Given the description of an element on the screen output the (x, y) to click on. 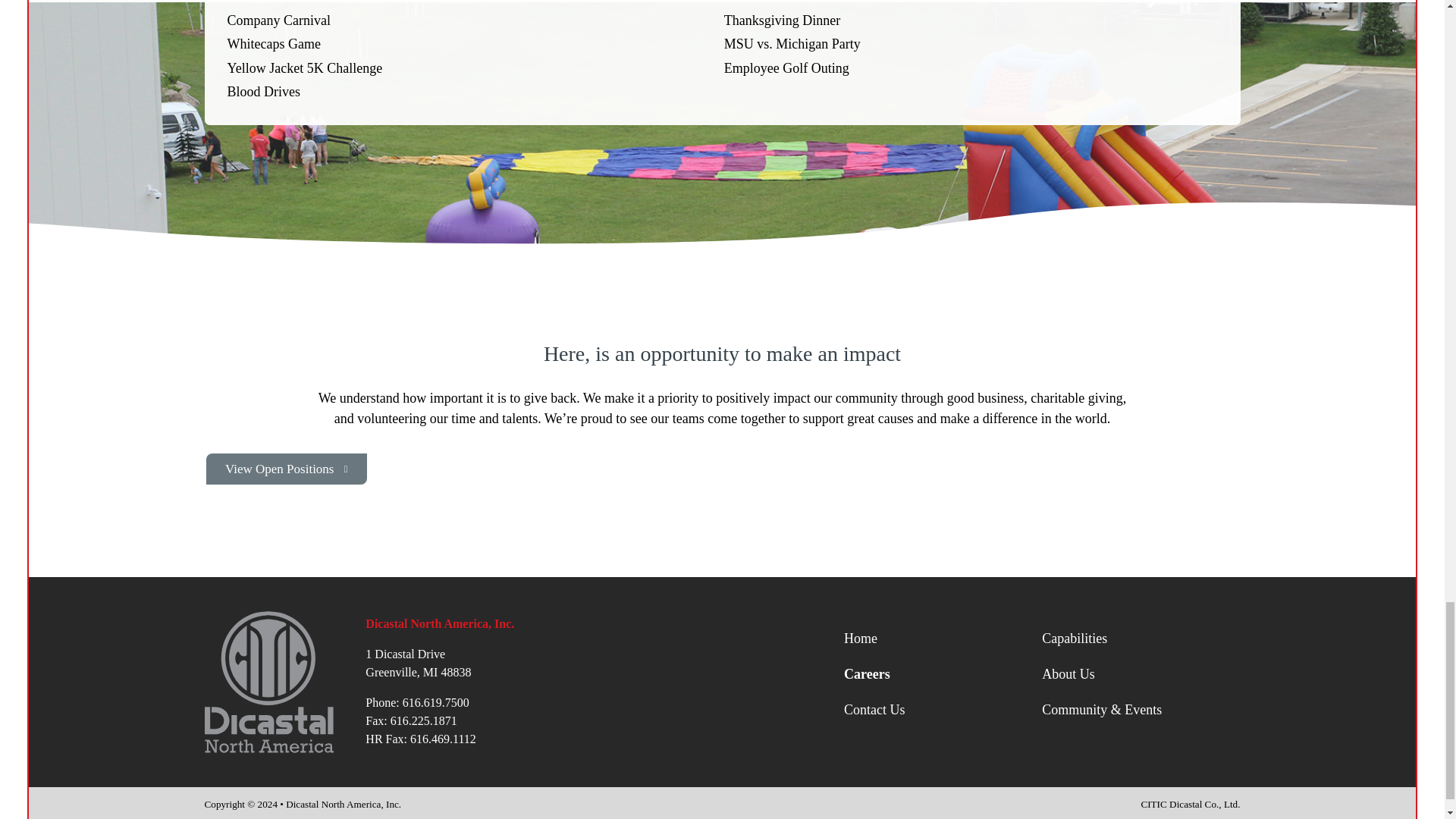
Home (943, 638)
Contact Us (943, 710)
Capabilities (1141, 638)
About Us (1141, 674)
Careers (943, 674)
View Open Positions (286, 469)
